Given the description of an element on the screen output the (x, y) to click on. 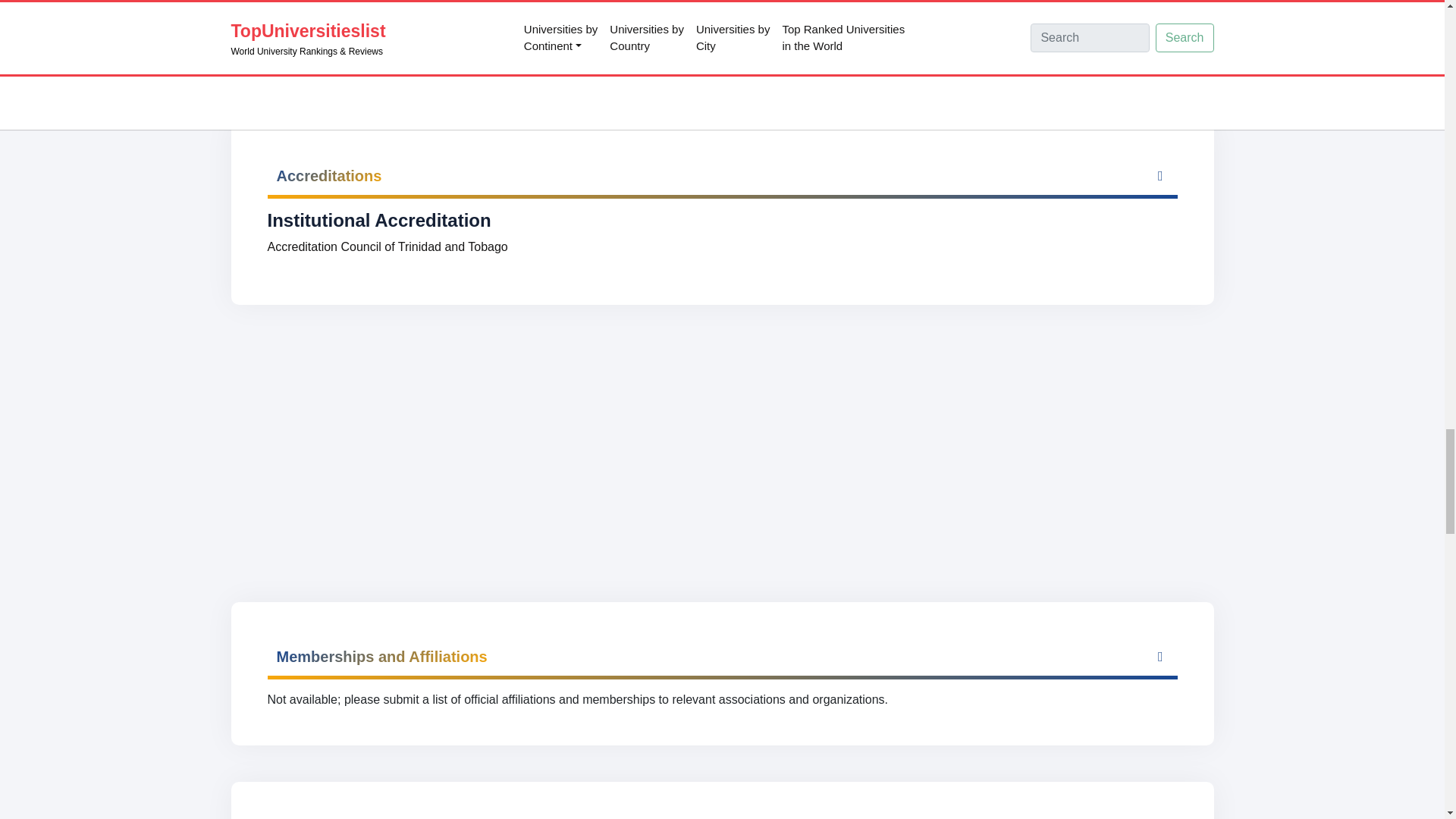
Accreditation Council of Trinidad and Tobago (386, 246)
